Given the description of an element on the screen output the (x, y) to click on. 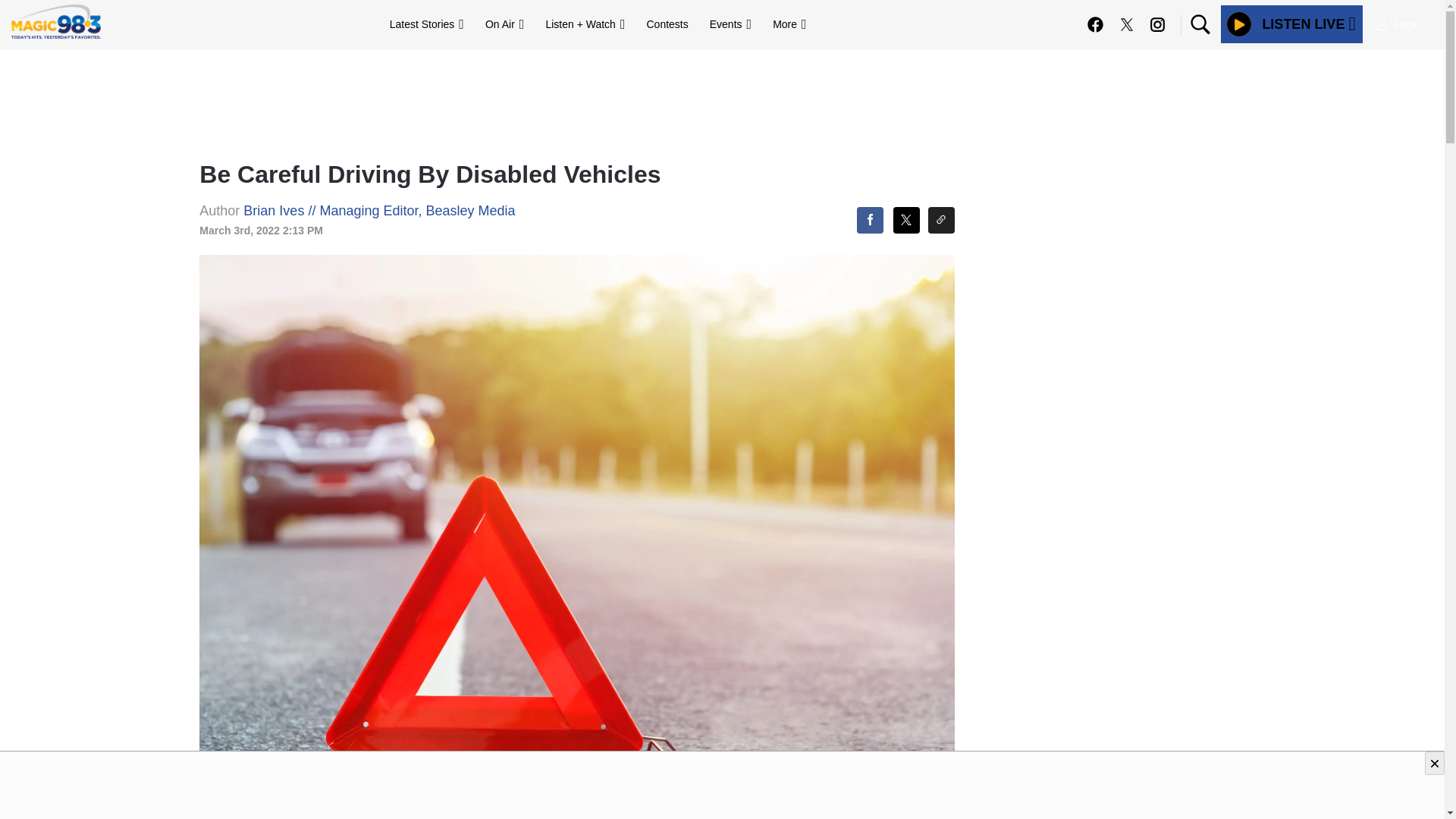
Contests (666, 24)
Latest Stories (426, 24)
On Air (504, 24)
Close AdCheckmark indicating ad close (1434, 763)
Events (729, 24)
